Given the description of an element on the screen output the (x, y) to click on. 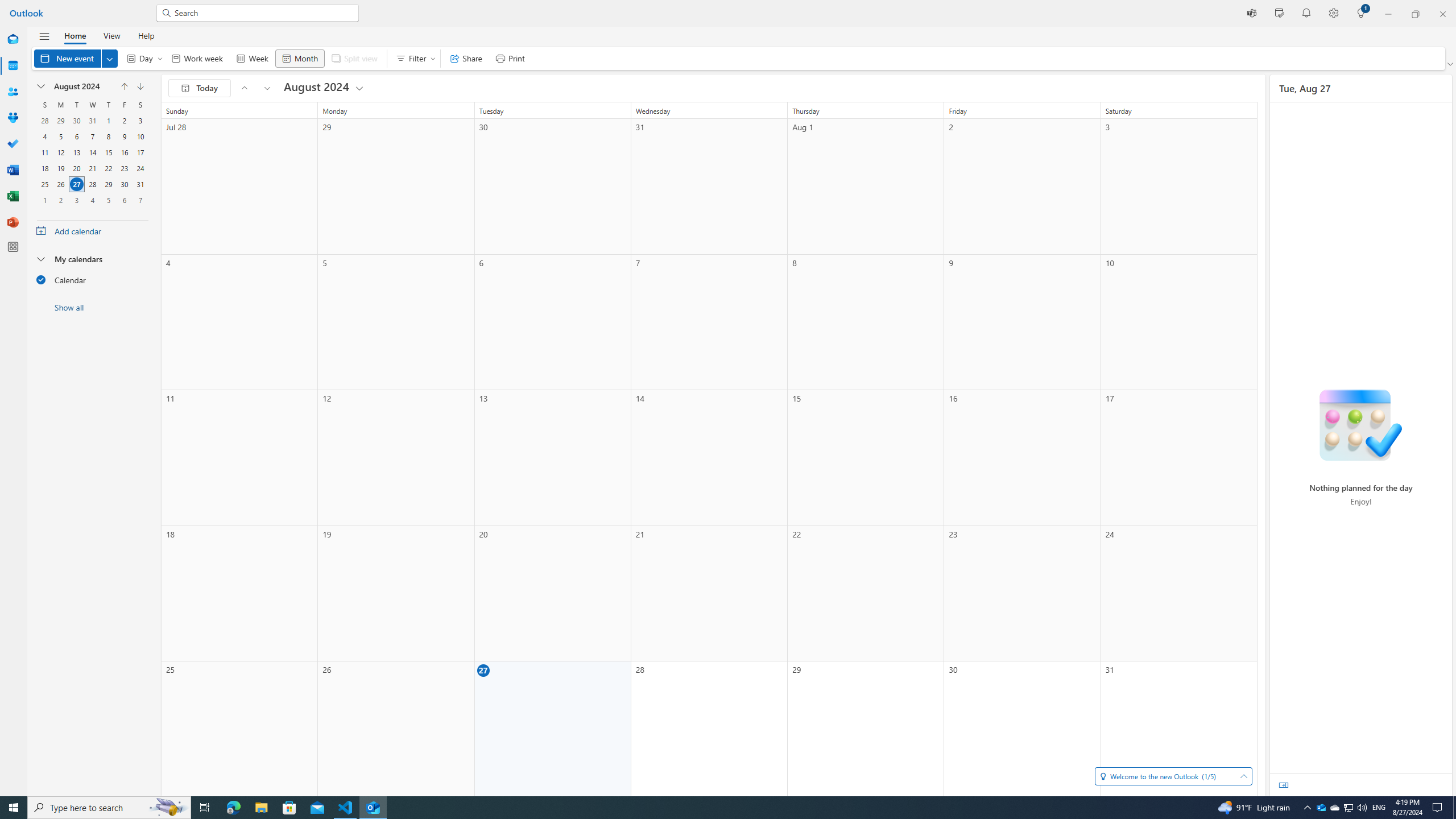
Notification Chevron (1307, 807)
Microsoft Store (289, 807)
System Promoted Notification Area (1320, 807)
Action Center, No new notifications (1439, 807)
Start (13, 807)
Visual Studio Code - 1 running window (345, 807)
Microsoft Edge (233, 807)
Q2790: 100% (1361, 807)
Show desktop (1454, 807)
